Given the description of an element on the screen output the (x, y) to click on. 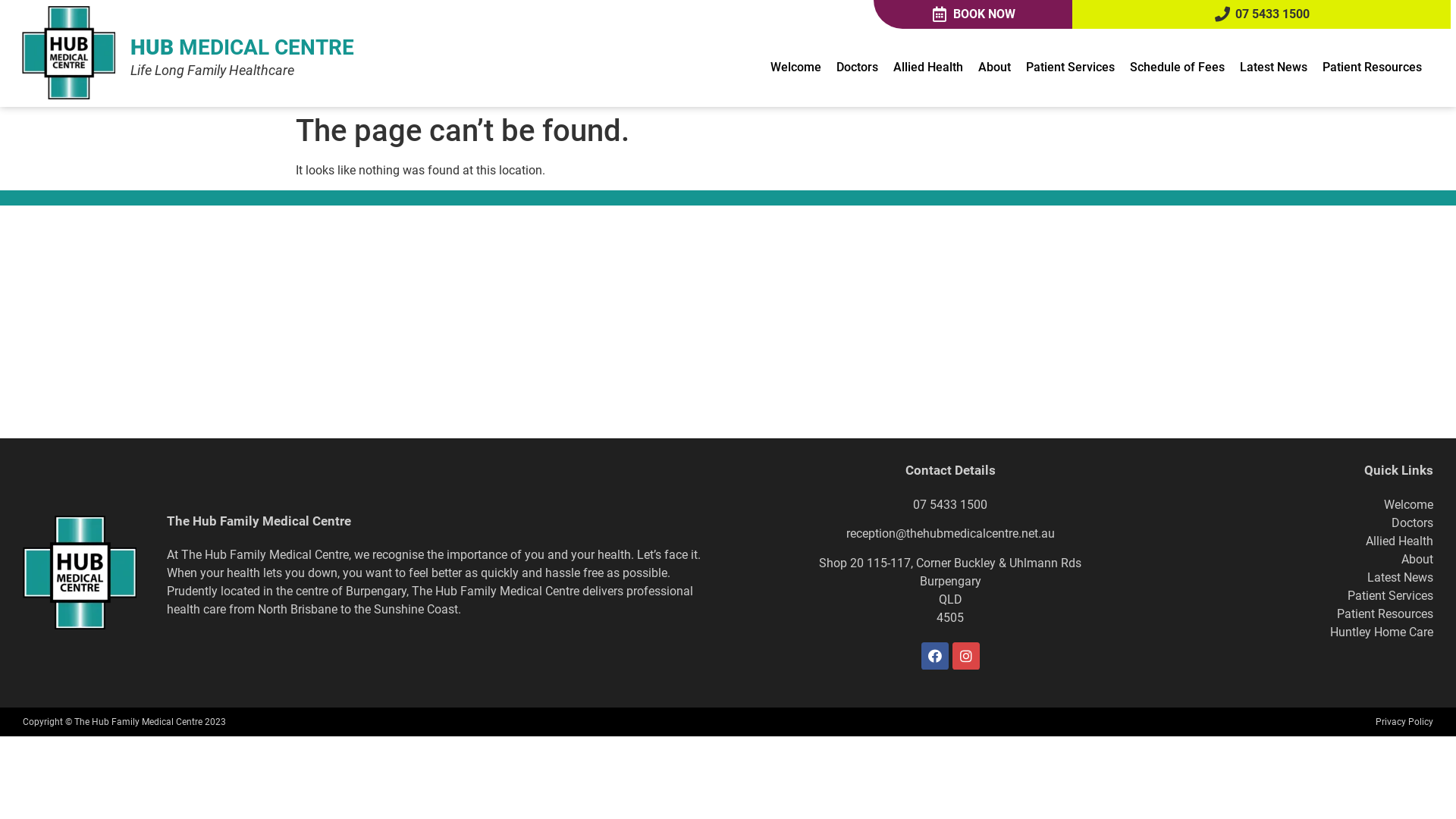
Latest News Element type: text (1400, 577)
About Element type: text (994, 67)
About Element type: text (1417, 559)
Allied Health Element type: text (927, 67)
Patient Services Element type: text (1390, 595)
Welcome Element type: text (795, 67)
BOOK NOW Element type: text (972, 14)
Schedule of Fees Element type: text (1177, 67)
Patient Resources Element type: text (1371, 67)
Patient Services Element type: text (1069, 67)
Huntley Home Care Element type: text (1381, 631)
Welcome Element type: text (1408, 504)
Doctors Element type: text (856, 67)
Privacy Policy Element type: text (1404, 721)
Allied Health Element type: text (1399, 540)
Doctors Element type: text (1412, 522)
reception@thehubmedicalcentre.net.au Element type: text (950, 533)
Latest News Element type: text (1272, 67)
Patient Resources Element type: text (1384, 613)
